Given the description of an element on the screen output the (x, y) to click on. 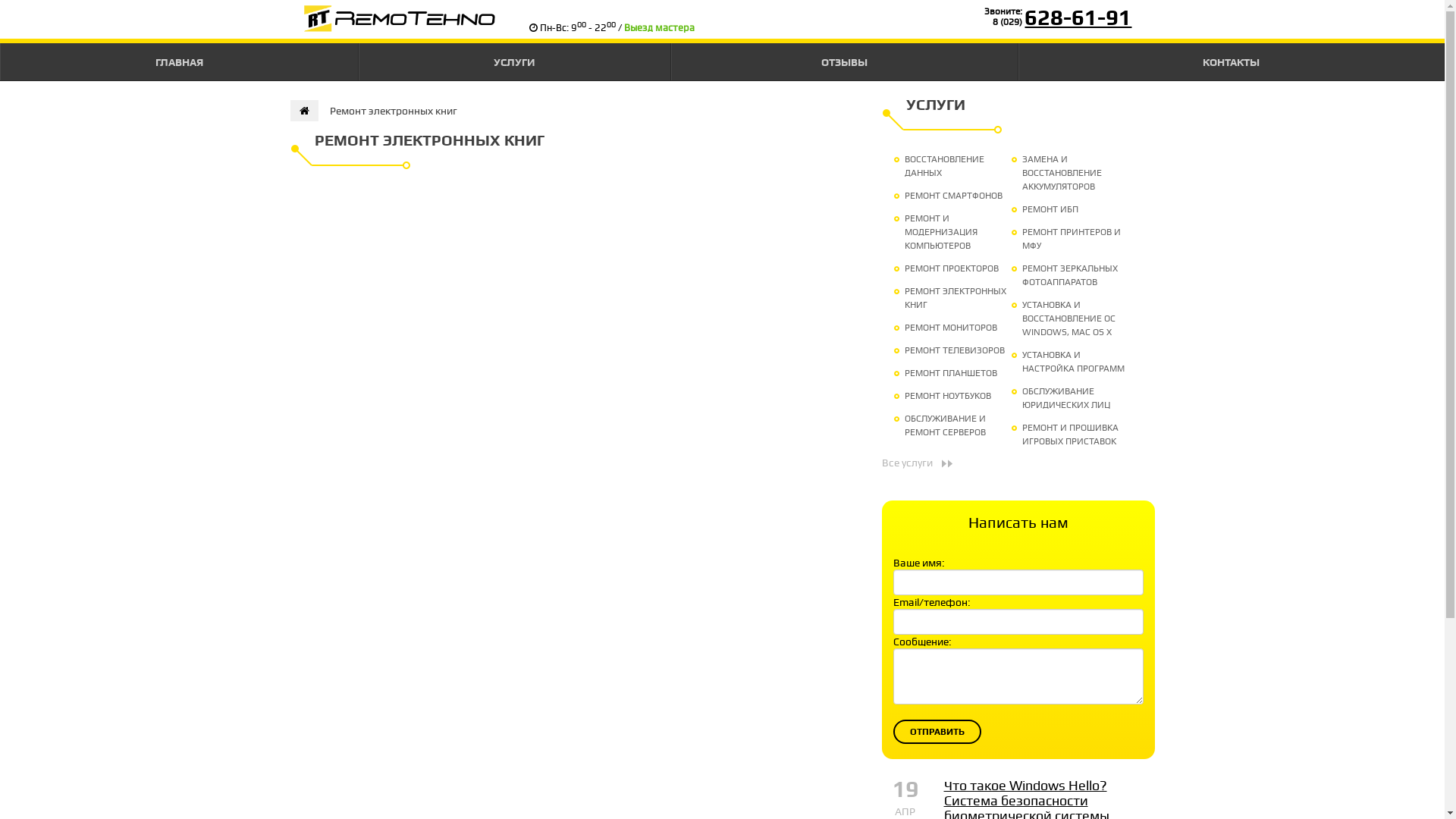
628-61-91 Element type: text (1077, 17)
